Given the description of an element on the screen output the (x, y) to click on. 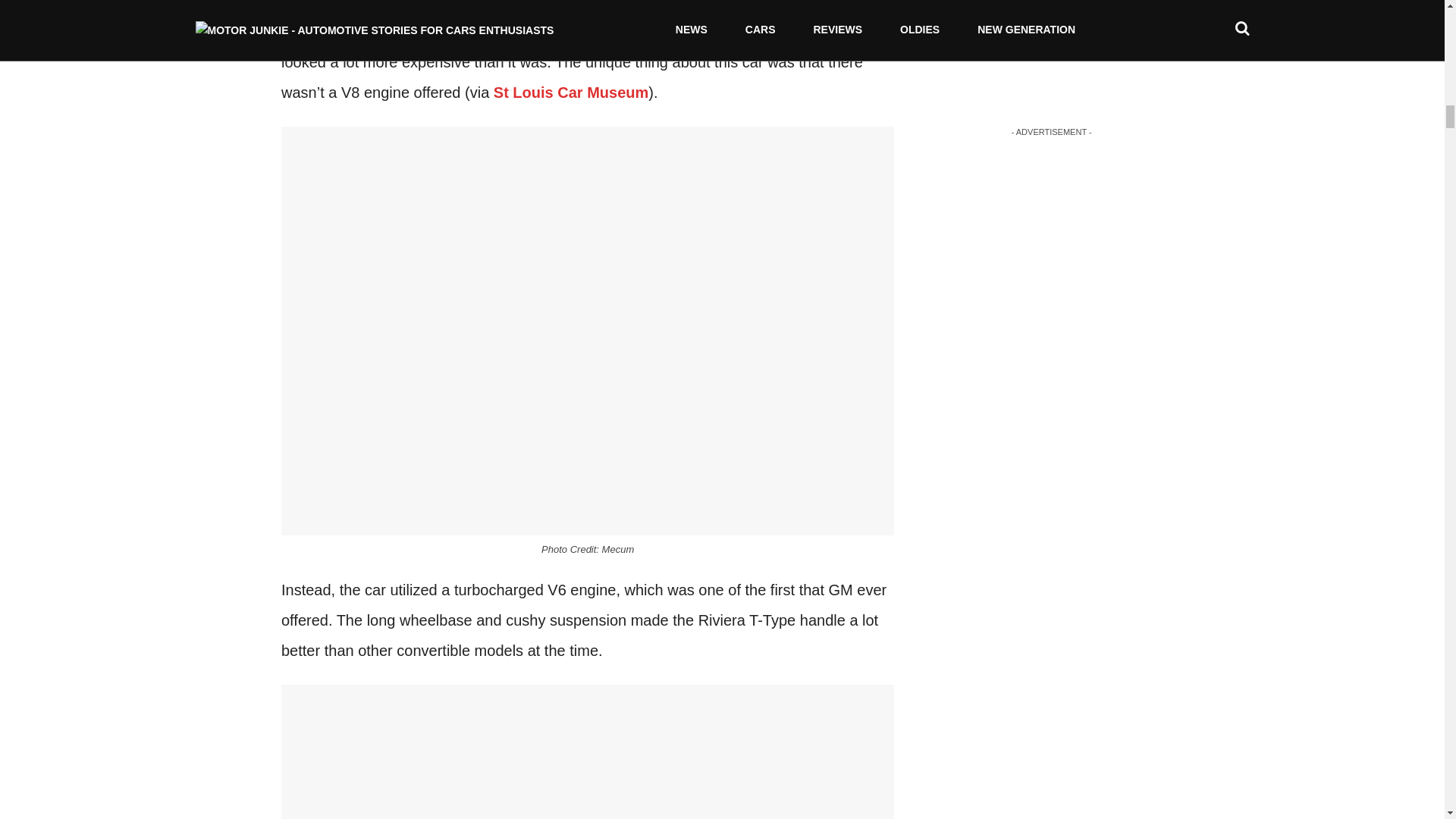
St Louis Car Museum (570, 92)
